Given the description of an element on the screen output the (x, y) to click on. 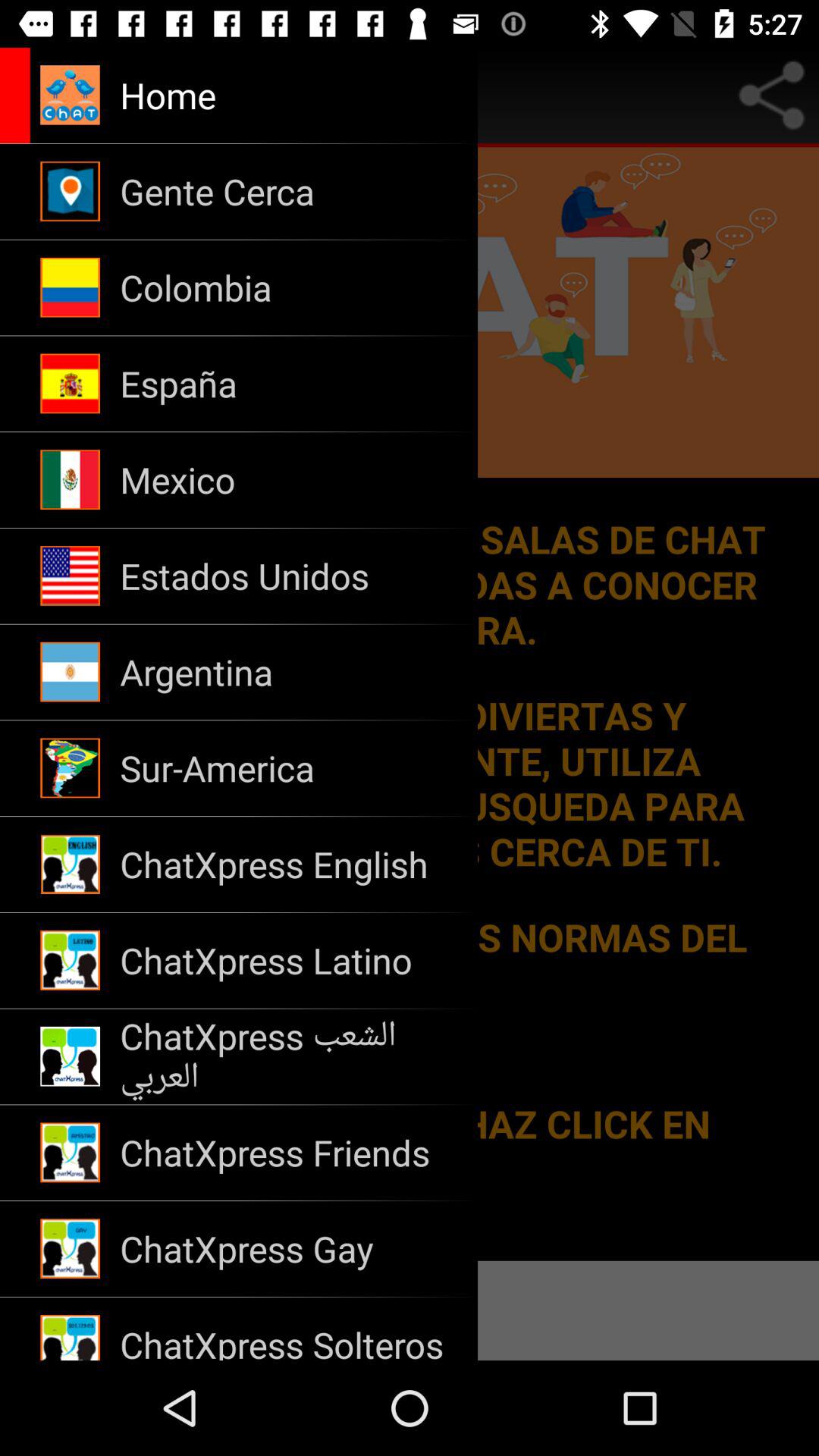
click to share (771, 95)
